Given the description of an element on the screen output the (x, y) to click on. 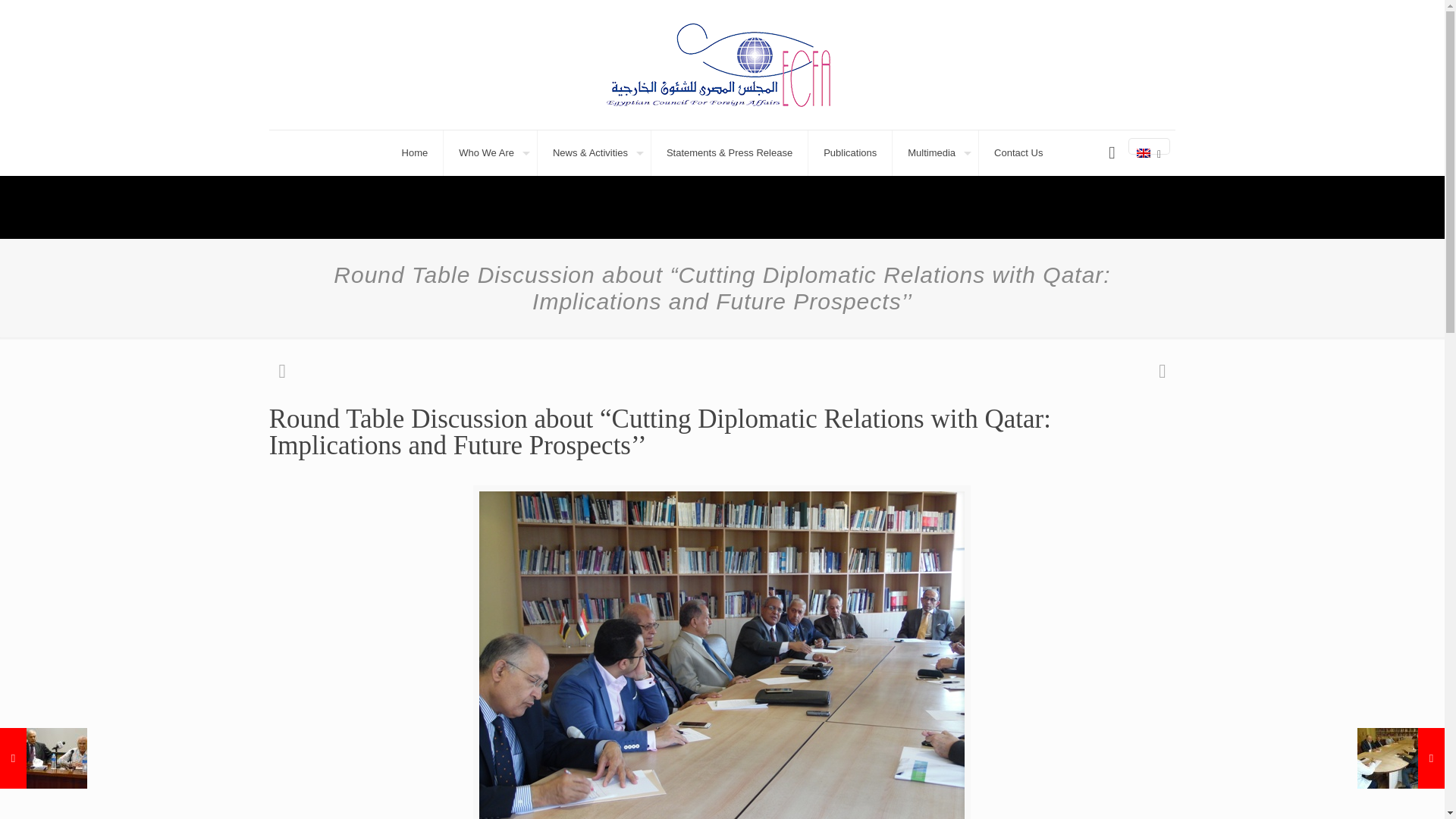
Who We Are (490, 153)
Multimedia (935, 153)
Contact Us (1018, 153)
ECFA (721, 64)
Publications (850, 153)
Home (415, 153)
